Given the description of an element on the screen output the (x, y) to click on. 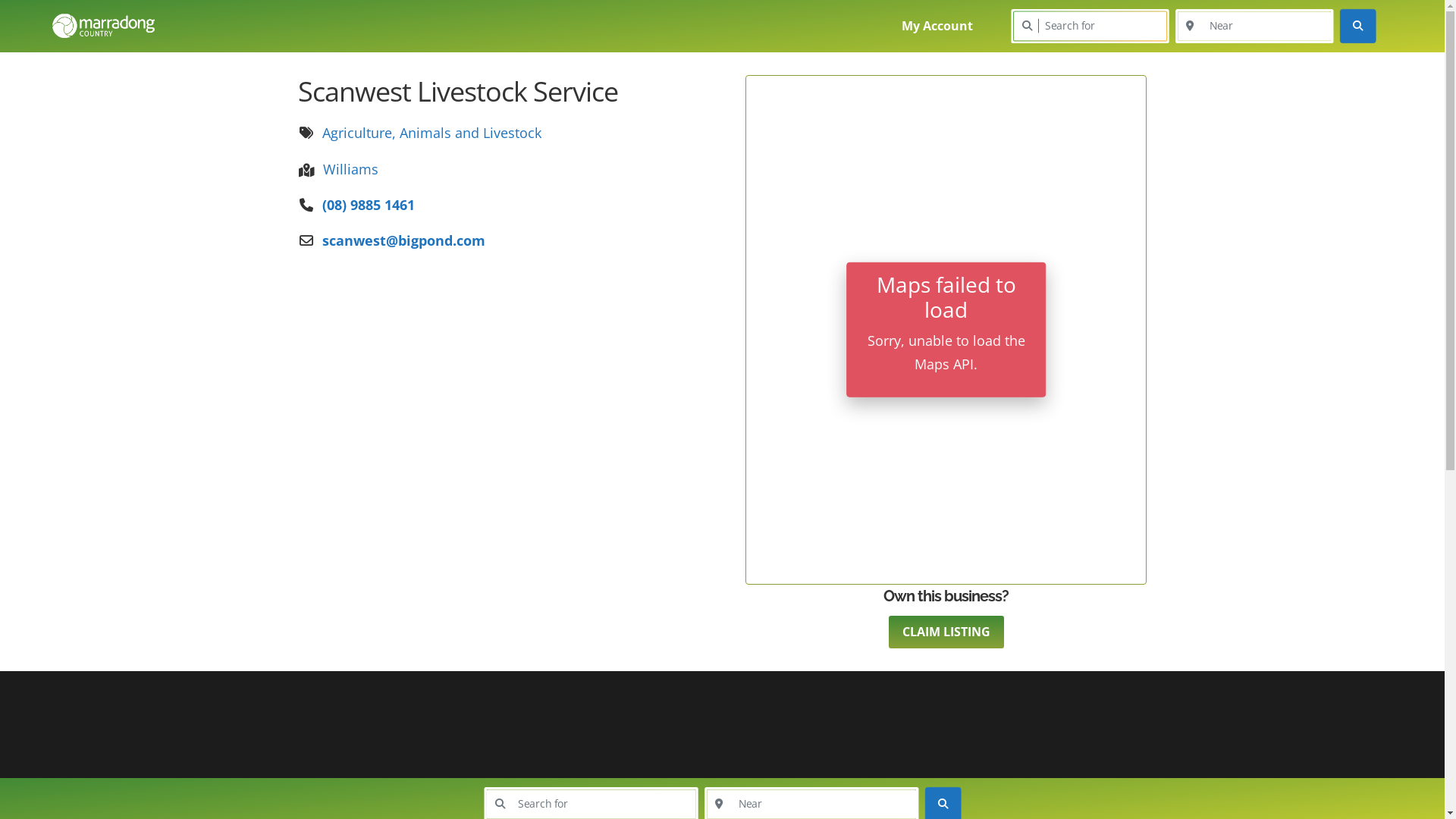
(08) 9885 1461 Element type: text (367, 204)
logo Element type: hover (103, 25)
Search Element type: text (1360, 29)
Williams Element type: text (337, 169)
Scanwest Livestock Service Element type: text (457, 90)
Agriculture, Animals and Livestock Element type: text (430, 132)
CLAIM LISTING Element type: text (946, 631)
scanwest@bigpond.com Element type: text (402, 240)
My Account Element type: text (937, 26)
